Given the description of an element on the screen output the (x, y) to click on. 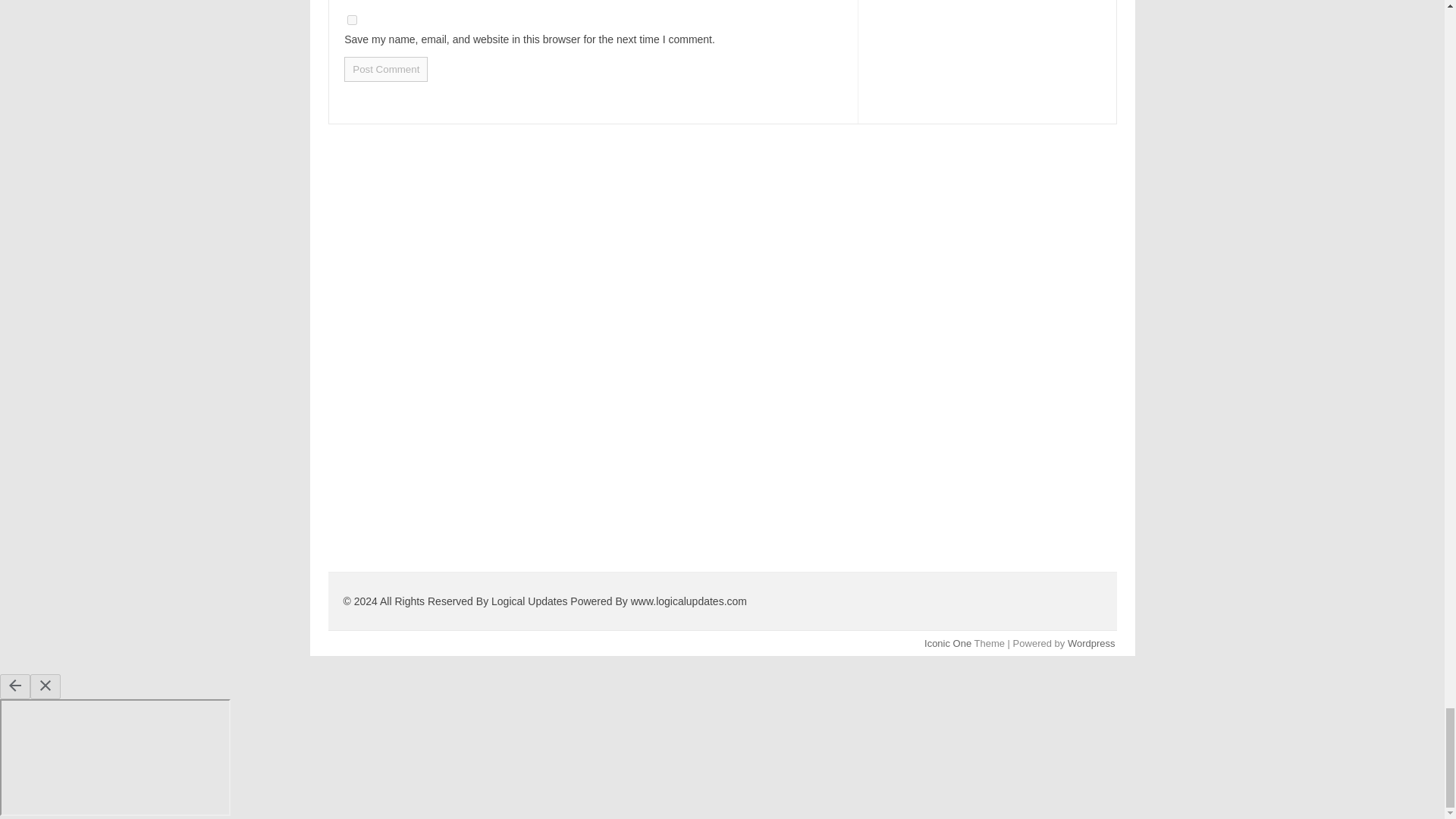
Post Comment (385, 68)
Post Comment (385, 68)
yes (351, 20)
